Given the description of an element on the screen output the (x, y) to click on. 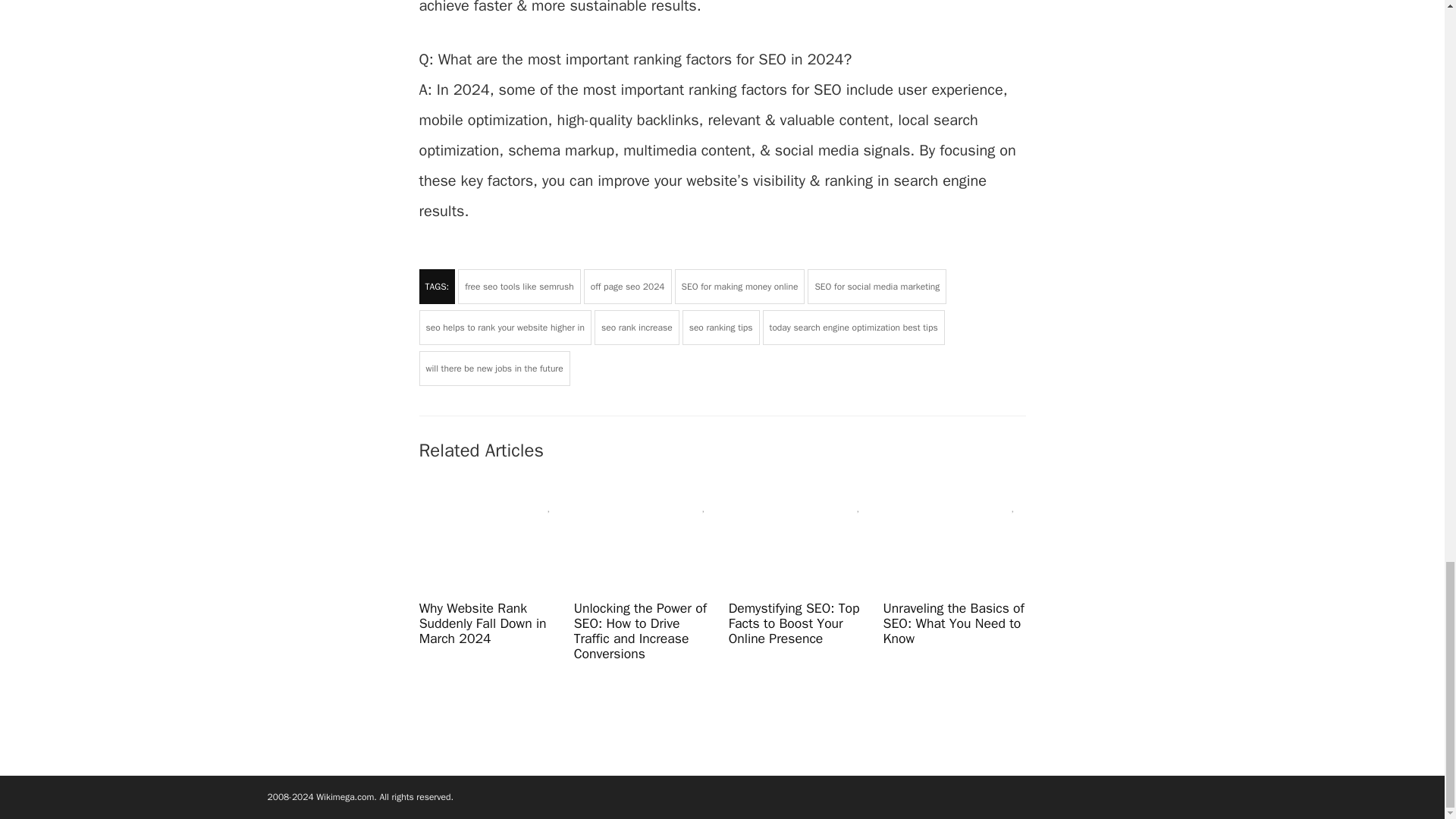
Unraveling the Basics of SEO: What You Need to Know (954, 623)
seo rank increase (636, 327)
Demystifying SEO: Top Facts to Boost Your Online Presence (794, 623)
today search engine optimization best tips (853, 327)
free seo tools like semrush (519, 286)
seo ranking tips (721, 327)
off page seo 2024 (627, 286)
will there be new jobs in the future (494, 368)
Why Website Rank Suddenly Fall Down in March 2024 (483, 623)
